Given the description of an element on the screen output the (x, y) to click on. 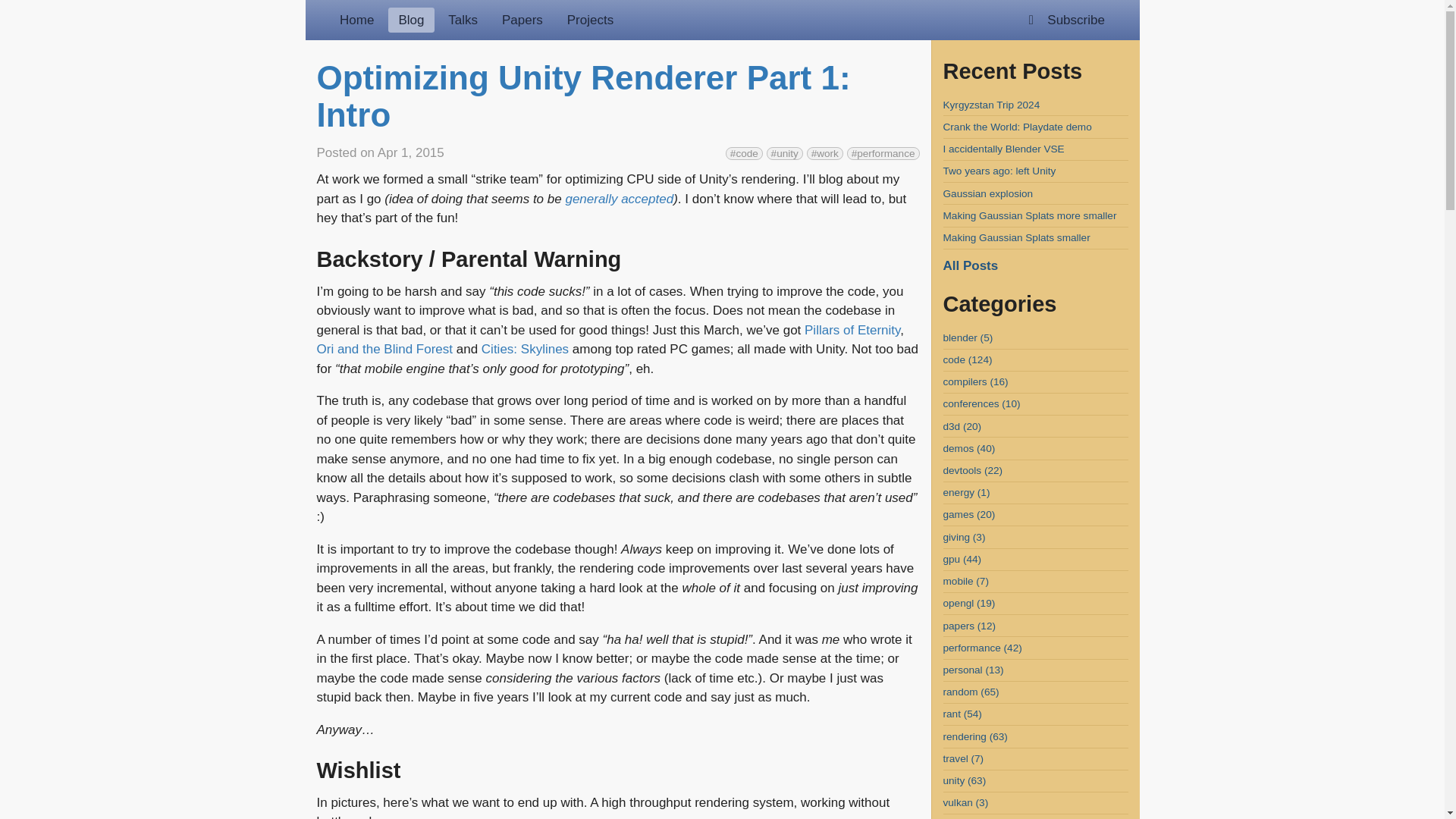
Papers (522, 19)
Making Gaussian Splats more smaller (1029, 215)
Making Gaussian Splats smaller (1016, 237)
All Posts (970, 265)
Crank the World: Playdate demo (1017, 126)
Projects (590, 19)
Talks (462, 19)
I accidentally Blender VSE (1003, 148)
Ori and the Blind Forest (384, 349)
generally accepted (618, 198)
Blog (410, 19)
Two years ago: left Unity (1000, 170)
Kyrgyzstan Trip 2024 (992, 104)
Gaussian explosion (988, 193)
Pillars of Eternity (852, 329)
